Given the description of an element on the screen output the (x, y) to click on. 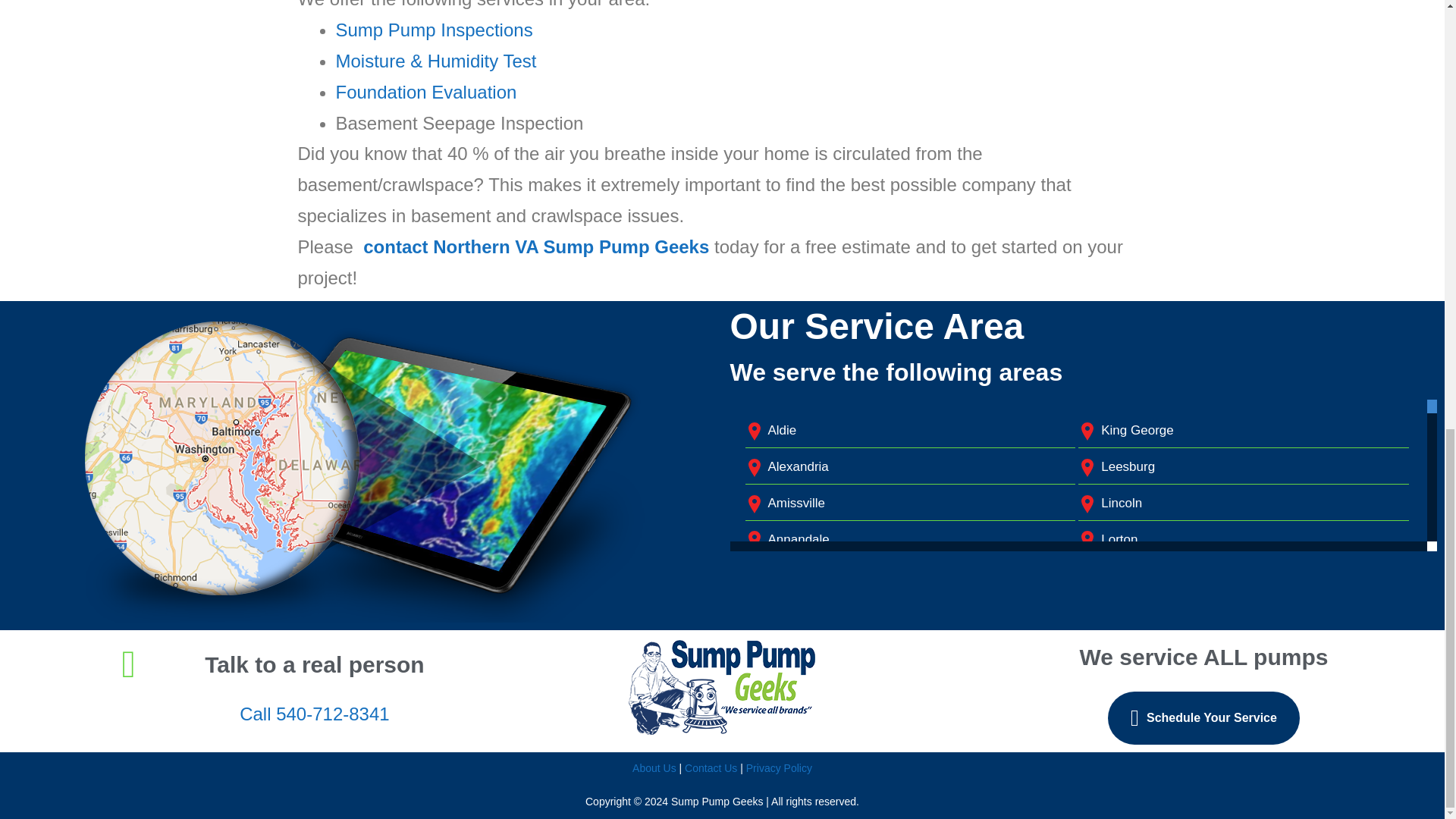
contact Northern VA Sump Pump Geeks (535, 246)
Sump Pump Inspections (433, 29)
Aldie (781, 430)
Foundation Evaluation (425, 91)
Amissville (796, 503)
Alexandria (797, 466)
